Given the description of an element on the screen output the (x, y) to click on. 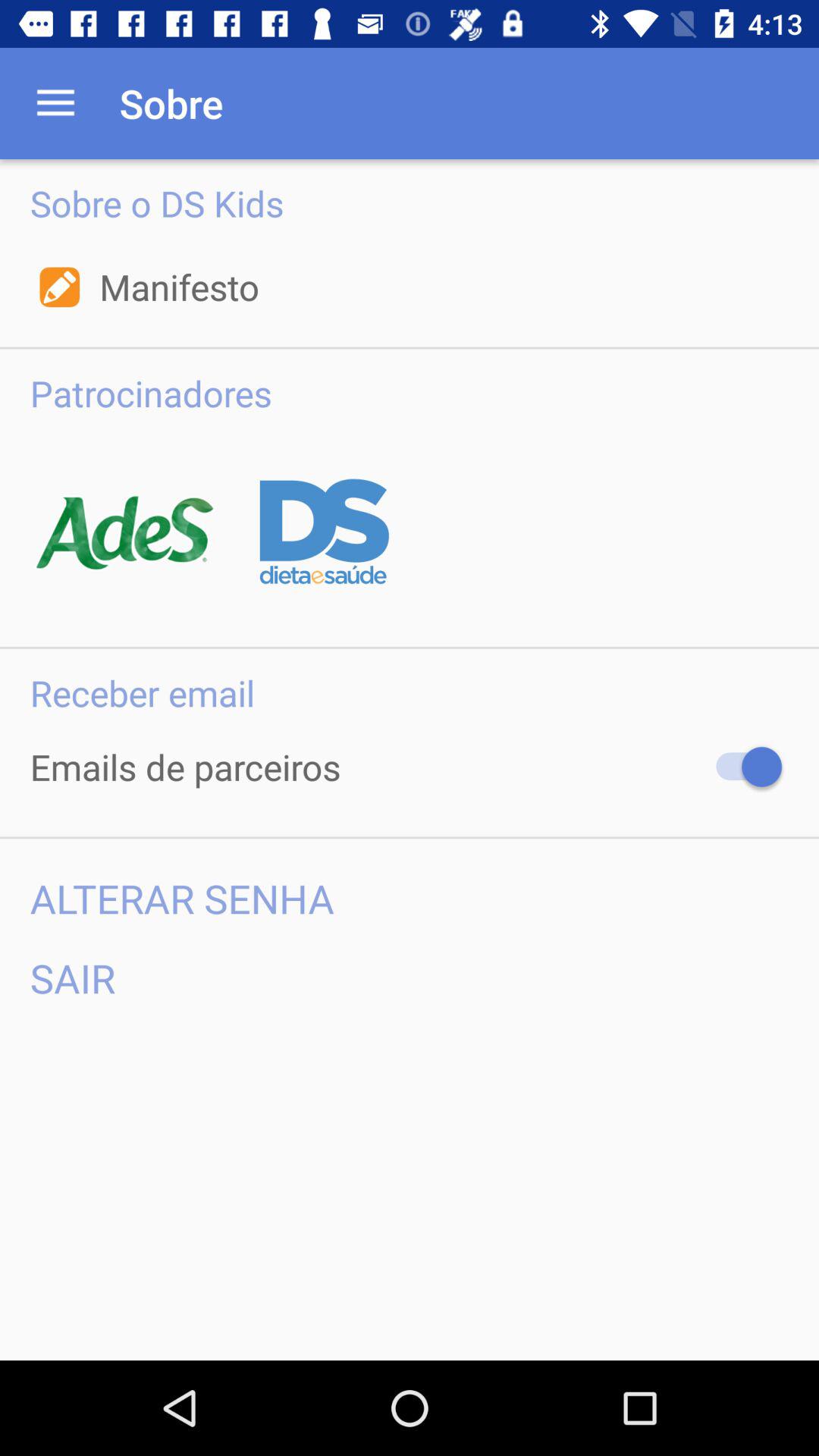
tap the item below receber email icon (741, 766)
